Given the description of an element on the screen output the (x, y) to click on. 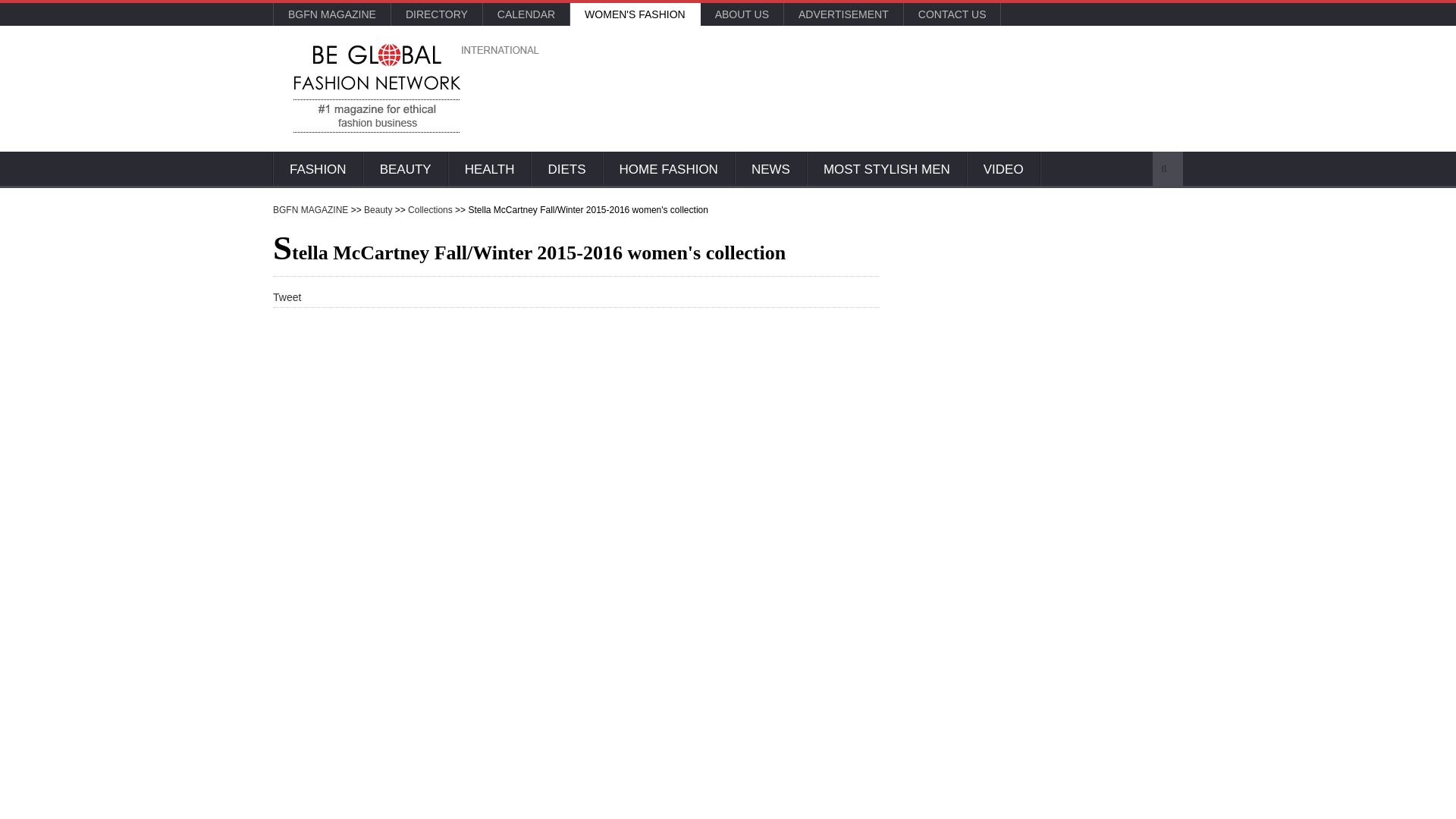
ADVERTISEMENT (843, 14)
BEAUTY (405, 169)
HEALTH (489, 169)
ABOUT US (741, 14)
BGFN MAGAZINE (331, 14)
WOMEN'S FASHION (635, 14)
CONTACT US (952, 14)
DIETS (566, 169)
CALENDAR (526, 14)
FASHION (317, 169)
